Given the description of an element on the screen output the (x, y) to click on. 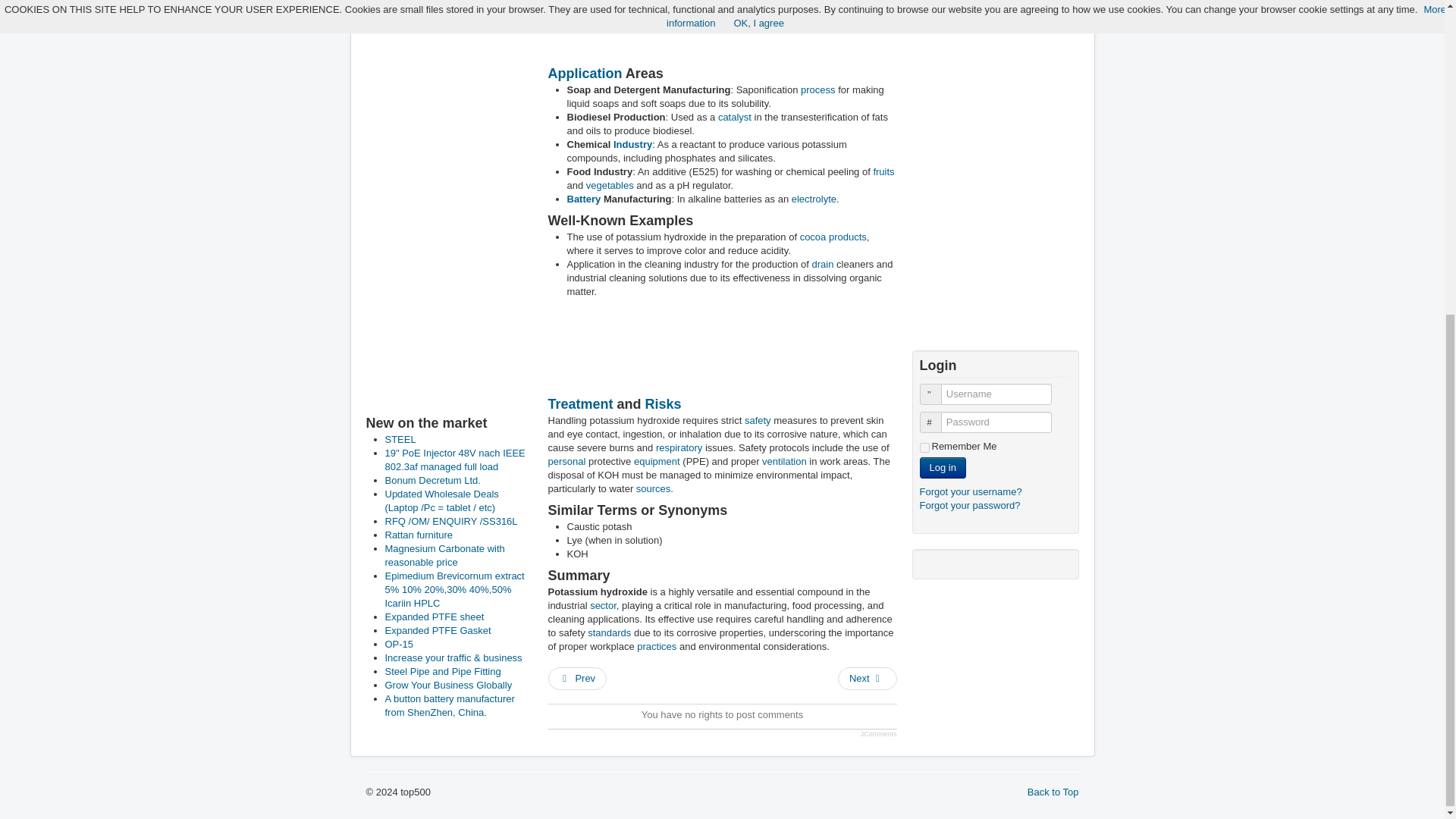
yes (923, 447)
Advertisement (724, 31)
